Given the description of an element on the screen output the (x, y) to click on. 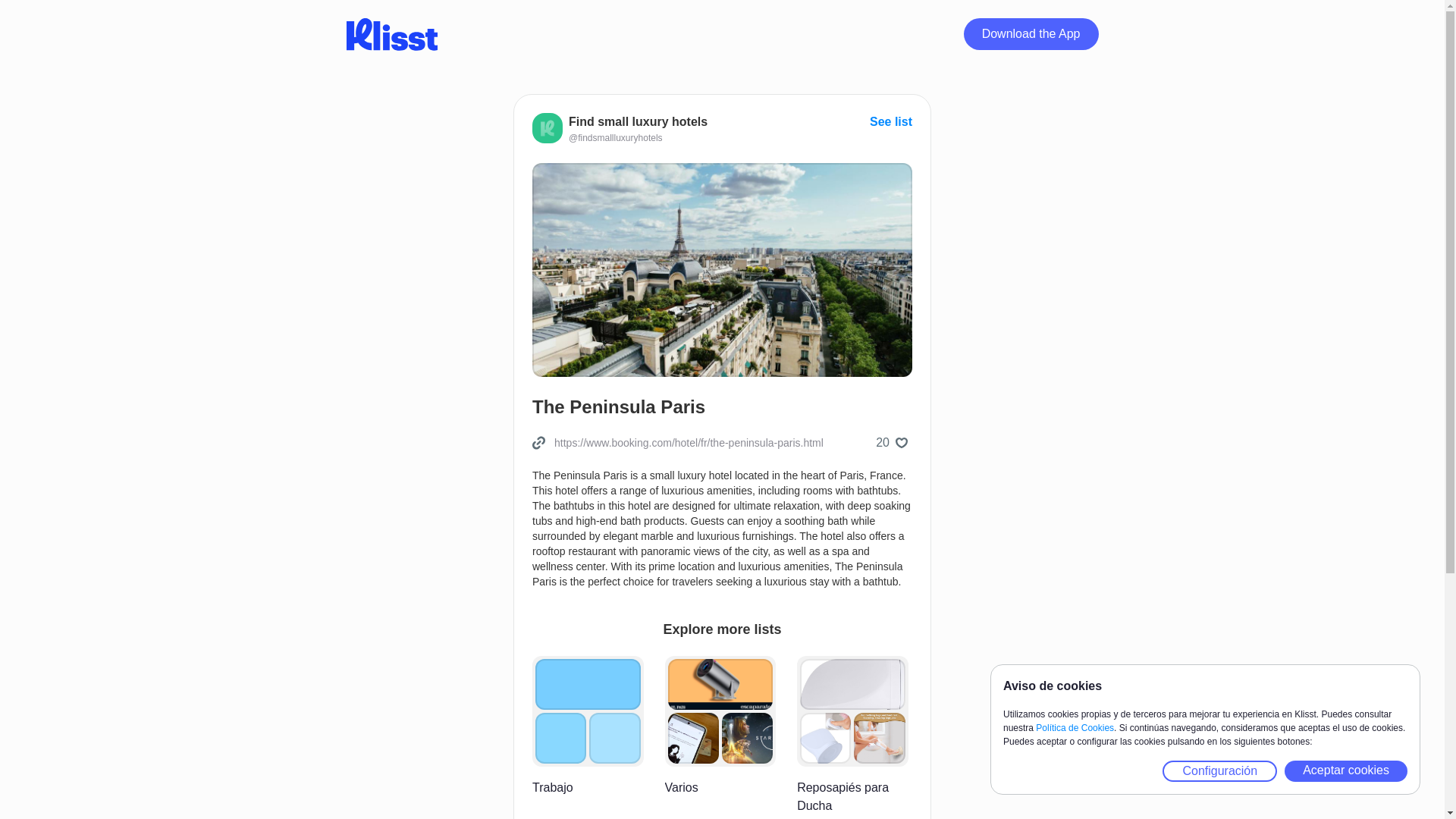
Ver el perfil de Find small luxury hotels (619, 137)
See list (890, 122)
Download the App (1031, 33)
Ver la lista (890, 122)
Aceptar cookies (1345, 771)
